Given the description of an element on the screen output the (x, y) to click on. 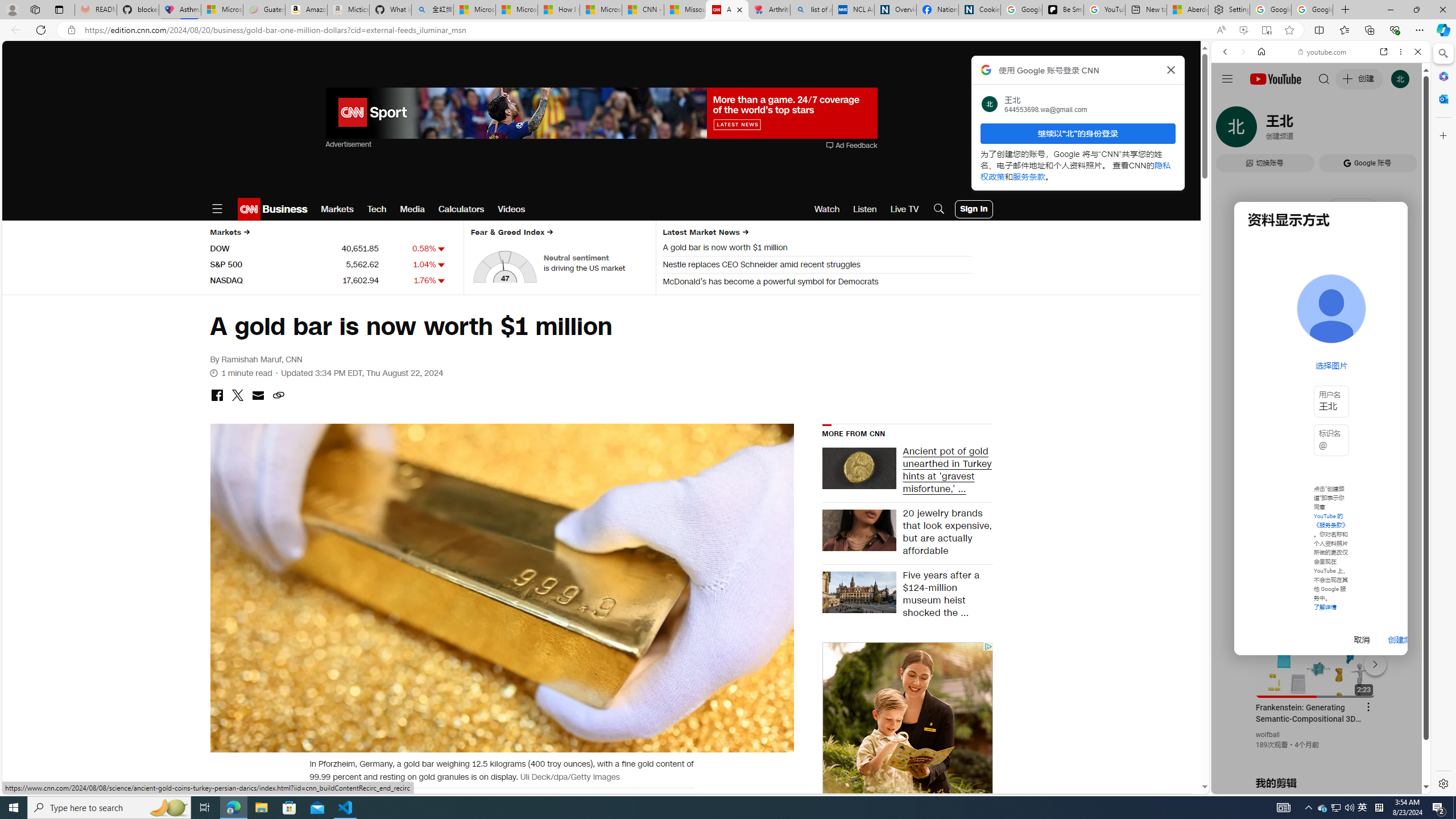
Markets (336, 209)
share with facebook (216, 395)
